Given the description of an element on the screen output the (x, y) to click on. 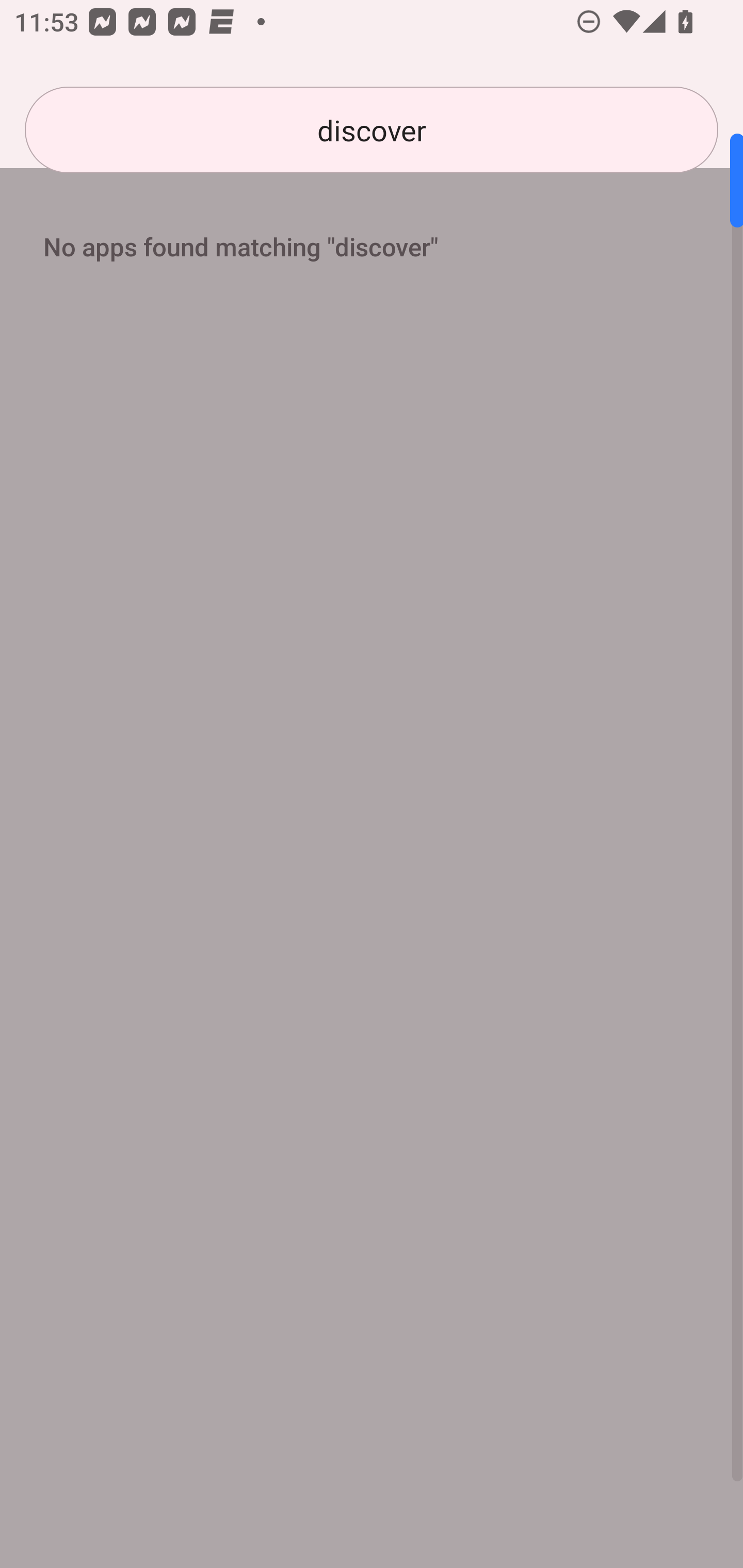
discover (371, 130)
